Given the description of an element on the screen output the (x, y) to click on. 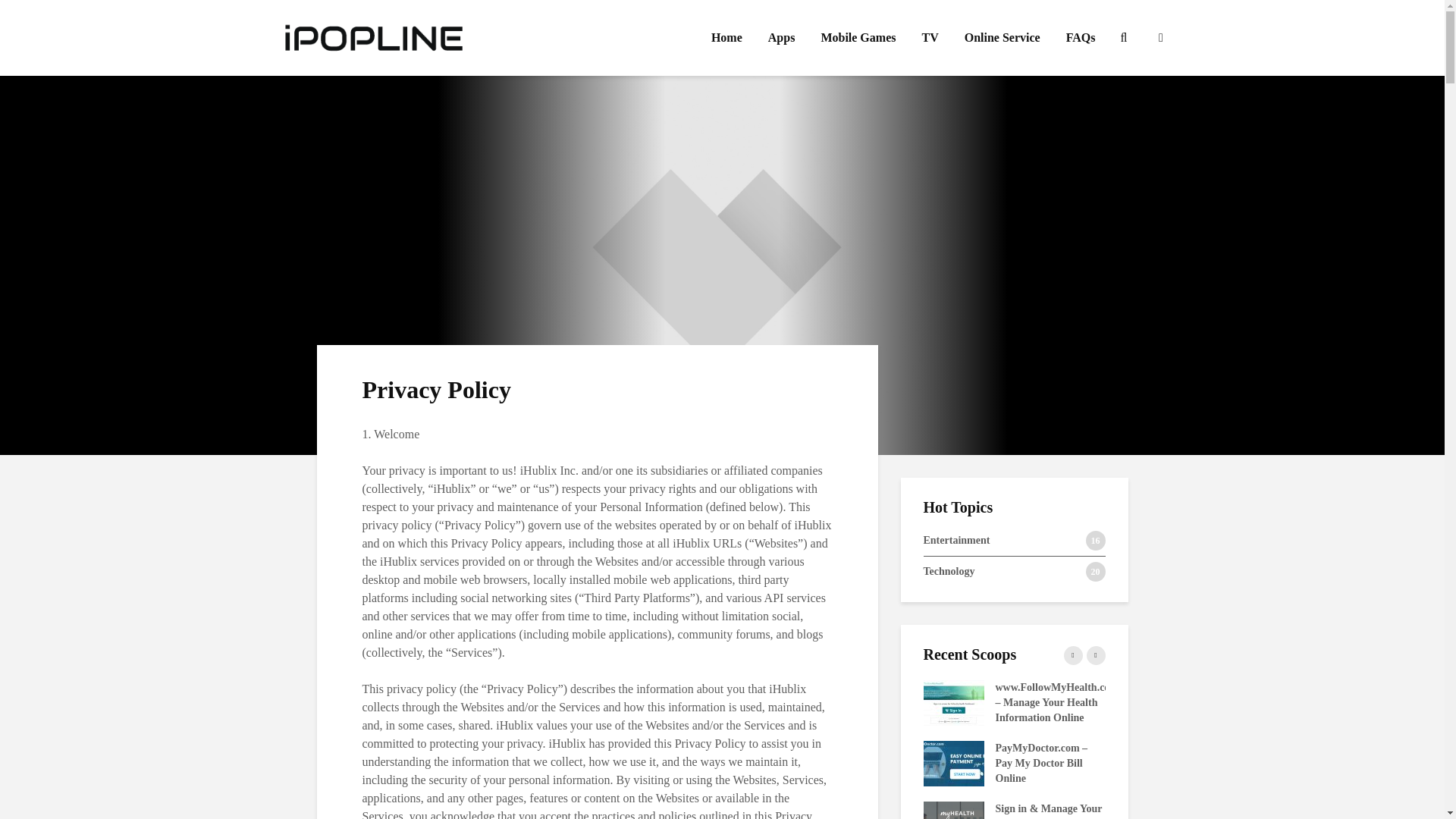
Access You Healthcare Information Now (771, 762)
Home (727, 37)
Online Service (1014, 544)
Access You Healthcare Information Now (1002, 37)
Download MyHealthONE App for FREE (863, 755)
Access You Healthcare Information Now (866, 811)
Apps (1317, 762)
FAQs (781, 37)
Download FollowMyHealth App for FREE (1080, 37)
